Given the description of an element on the screen output the (x, y) to click on. 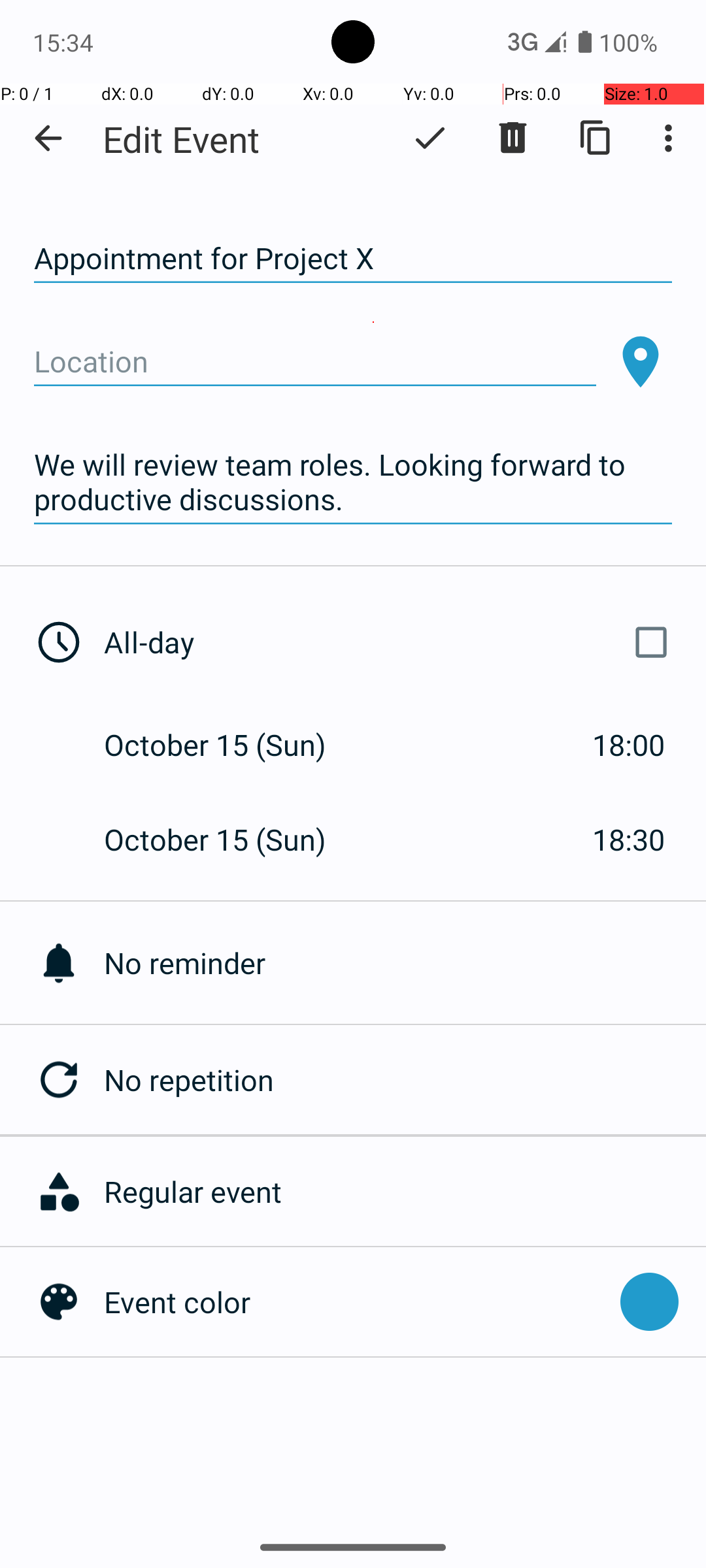
Edit Event Element type: android.widget.TextView (181, 138)
Duplicate event Element type: android.widget.Button (595, 137)
Appointment for Project X Element type: android.widget.EditText (352, 258)
We will review team roles. Looking forward to productive discussions. Element type: android.widget.EditText (352, 482)
18:00 Element type: android.widget.TextView (628, 744)
18:30 Element type: android.widget.TextView (628, 838)
No reminder Element type: android.widget.TextView (404, 962)
Event color Element type: android.widget.TextView (354, 1301)
